Given the description of an element on the screen output the (x, y) to click on. 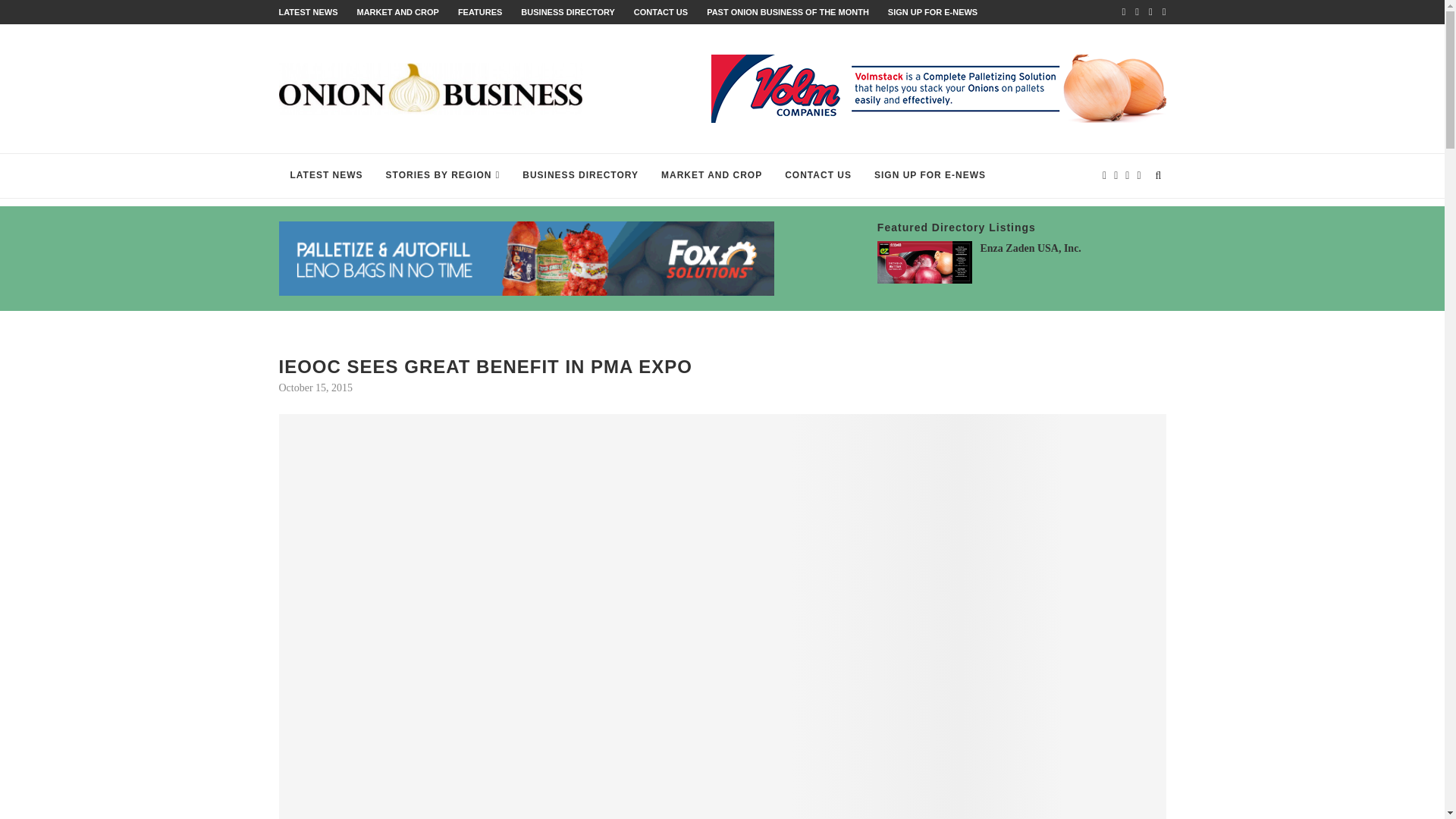
FEATURES (480, 11)
MARKET AND CROP (397, 11)
CONTACT US (660, 11)
PAST ONION BUSINESS OF THE MONTH (787, 11)
BUSINESS DIRECTORY (567, 11)
SIGN UP FOR E-NEWS (932, 11)
LATEST NEWS (308, 11)
